Given the description of an element on the screen output the (x, y) to click on. 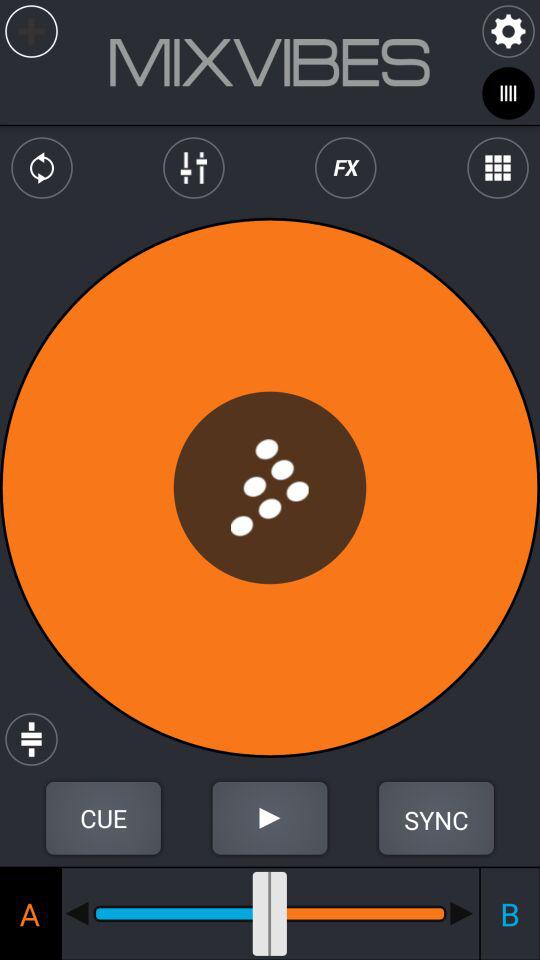
sound effect button (345, 167)
